Given the description of an element on the screen output the (x, y) to click on. 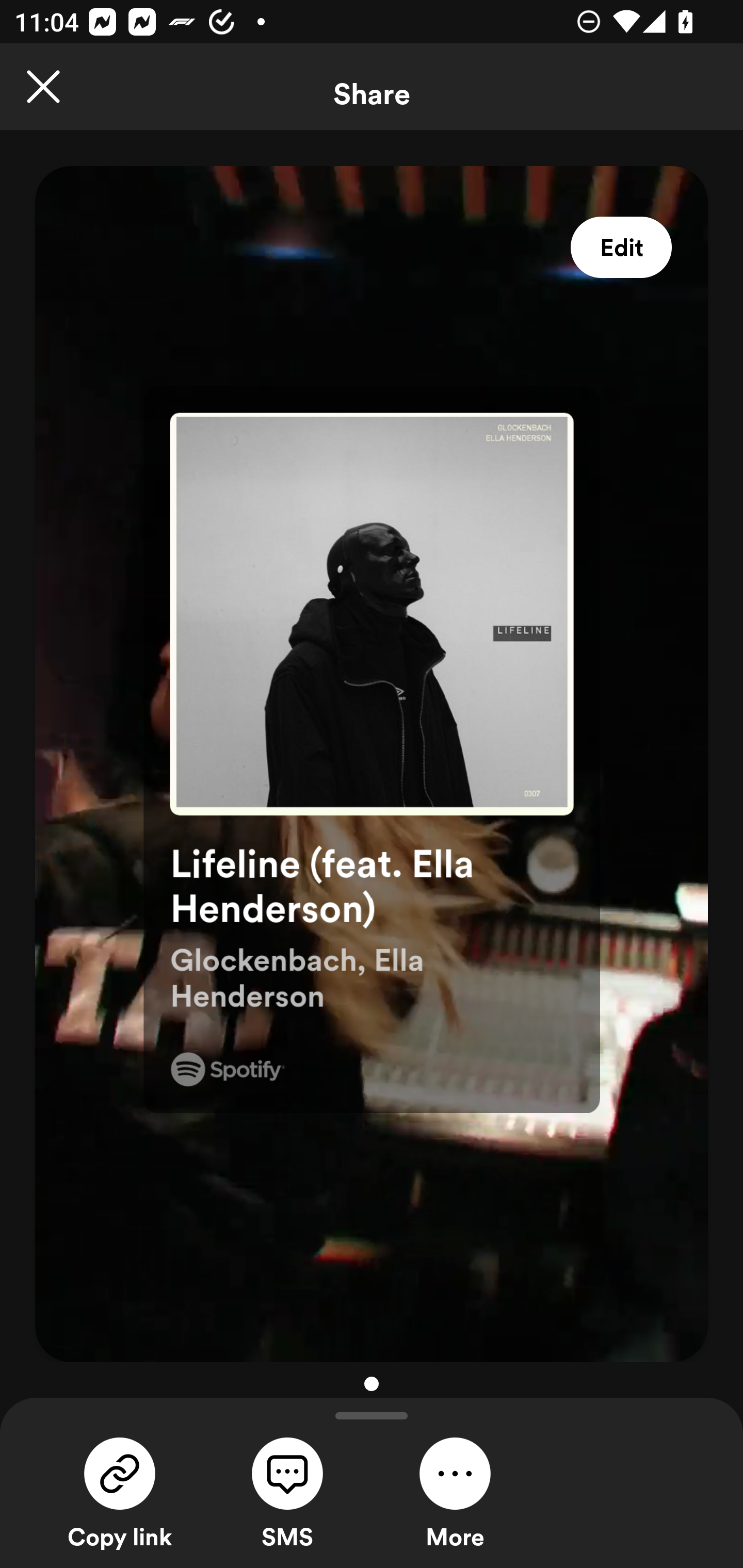
Close the Now Playing View (43, 86)
Edit (620, 247)
Copy share link Copy link (119, 1491)
Share over SMS SMS (287, 1491)
More sharing options More (455, 1491)
